Given the description of an element on the screen output the (x, y) to click on. 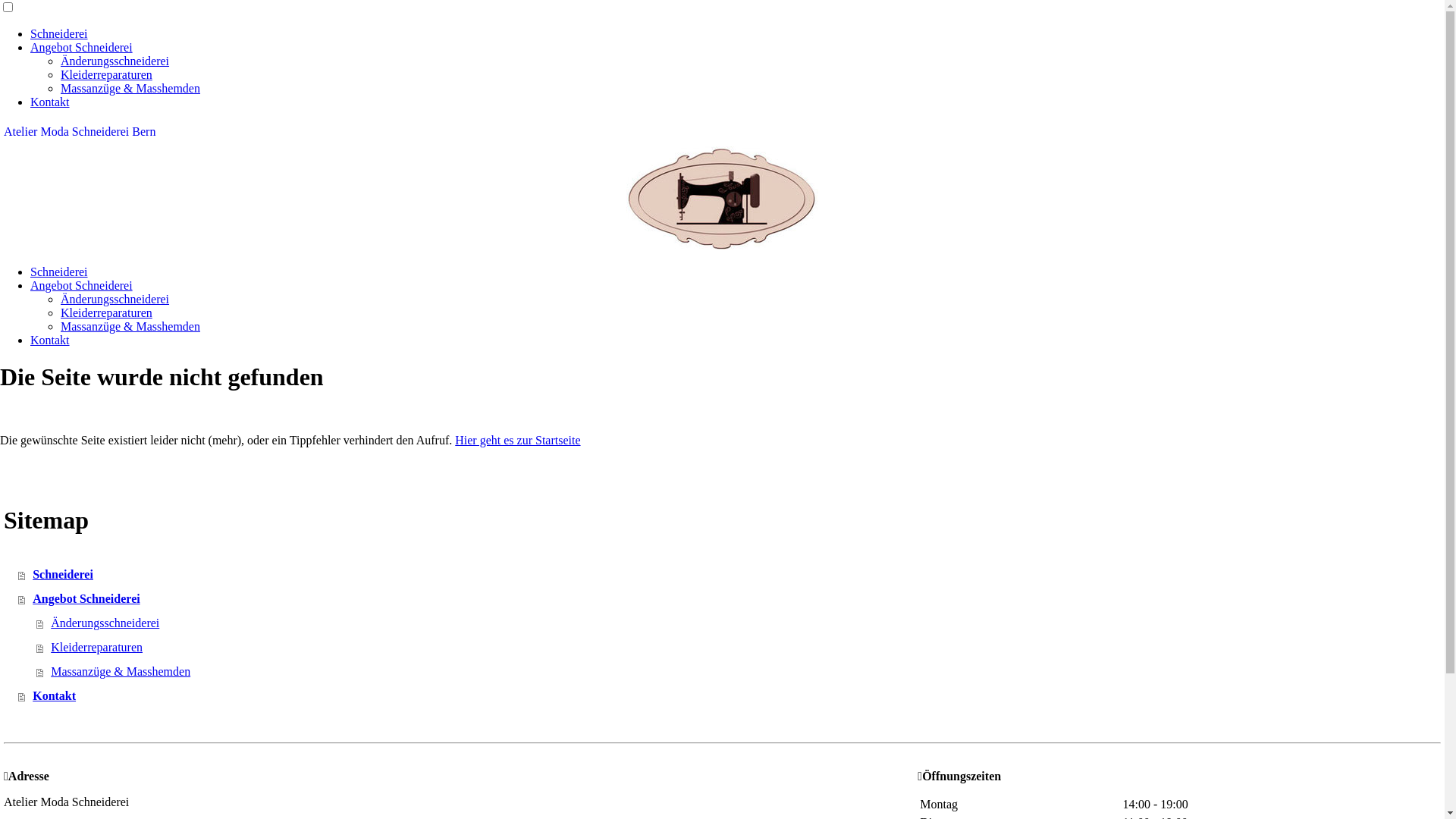
Kleiderreparaturen Element type: text (106, 312)
Angebot Schneiderei Element type: text (731, 598)
Kleiderreparaturen Element type: text (740, 647)
Angebot Schneiderei Element type: text (81, 46)
Atelier Moda Schneiderei Bern Element type: text (721, 131)
Kontakt Element type: text (731, 696)
Schneiderei Element type: text (58, 33)
Hier geht es zur Startseite Element type: text (517, 439)
Kontakt Element type: text (49, 101)
Kontakt Element type: text (49, 339)
Kleiderreparaturen Element type: text (106, 74)
Schneiderei Element type: text (731, 574)
Angebot Schneiderei Element type: text (81, 285)
Schneiderei Element type: text (58, 271)
